Given the description of an element on the screen output the (x, y) to click on. 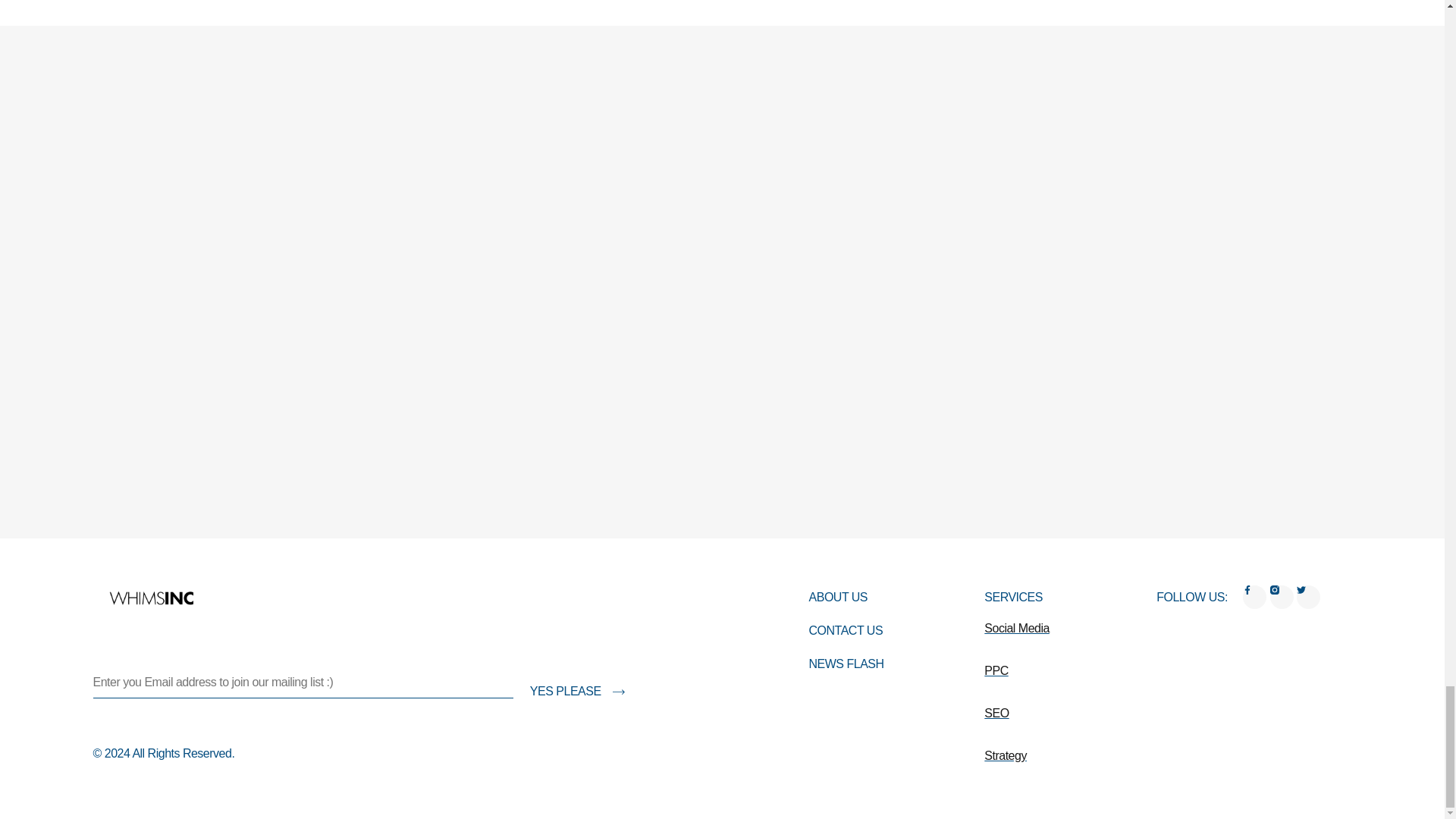
YES PLEASE (572, 683)
CONTACT US (846, 630)
ABOUT US (846, 597)
NEWS FLASH (846, 664)
